Given the description of an element on the screen output the (x, y) to click on. 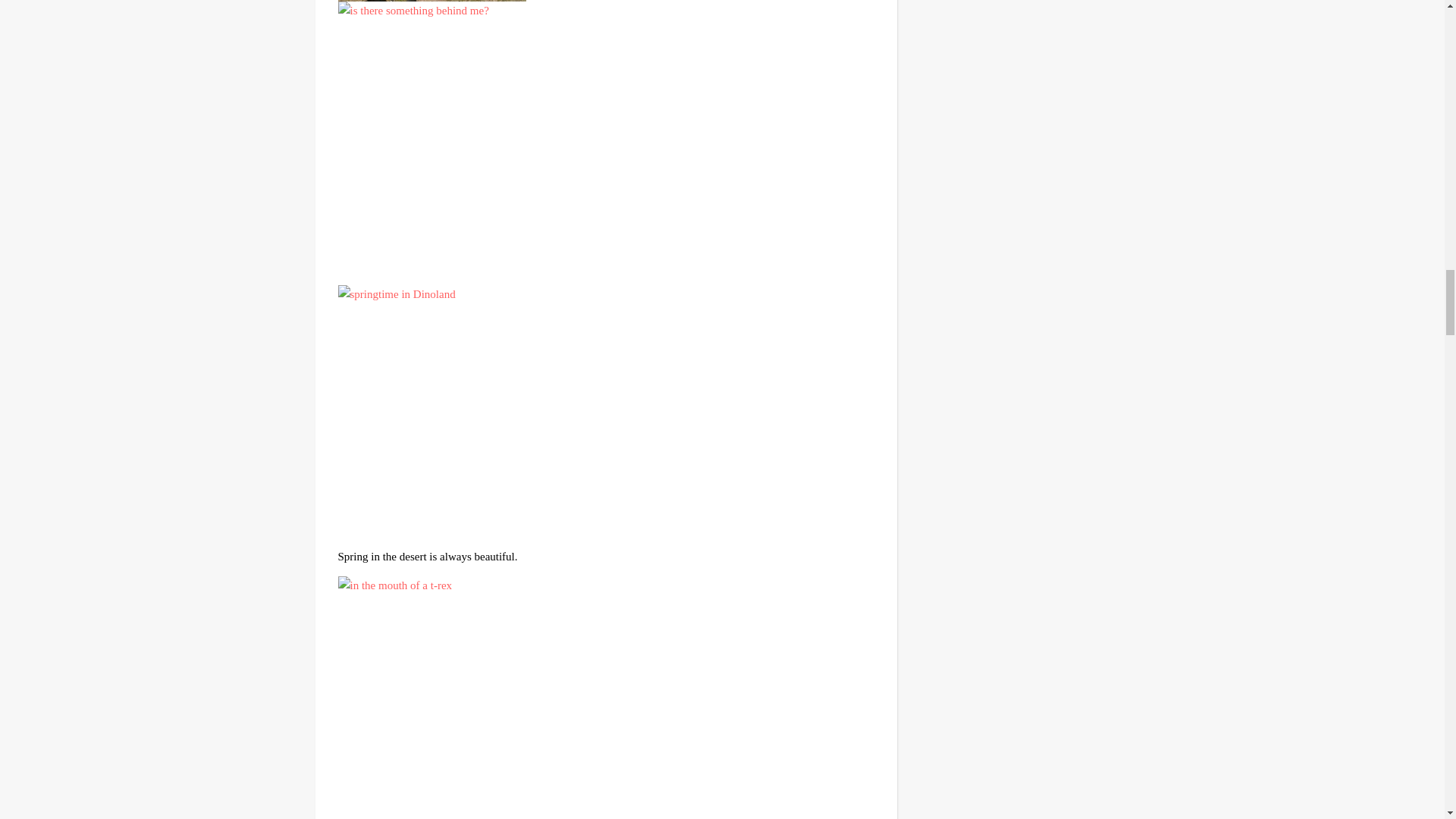
in the mouth of a t-rex by secret agent josephine, on Flickr (606, 697)
